Given the description of an element on the screen output the (x, y) to click on. 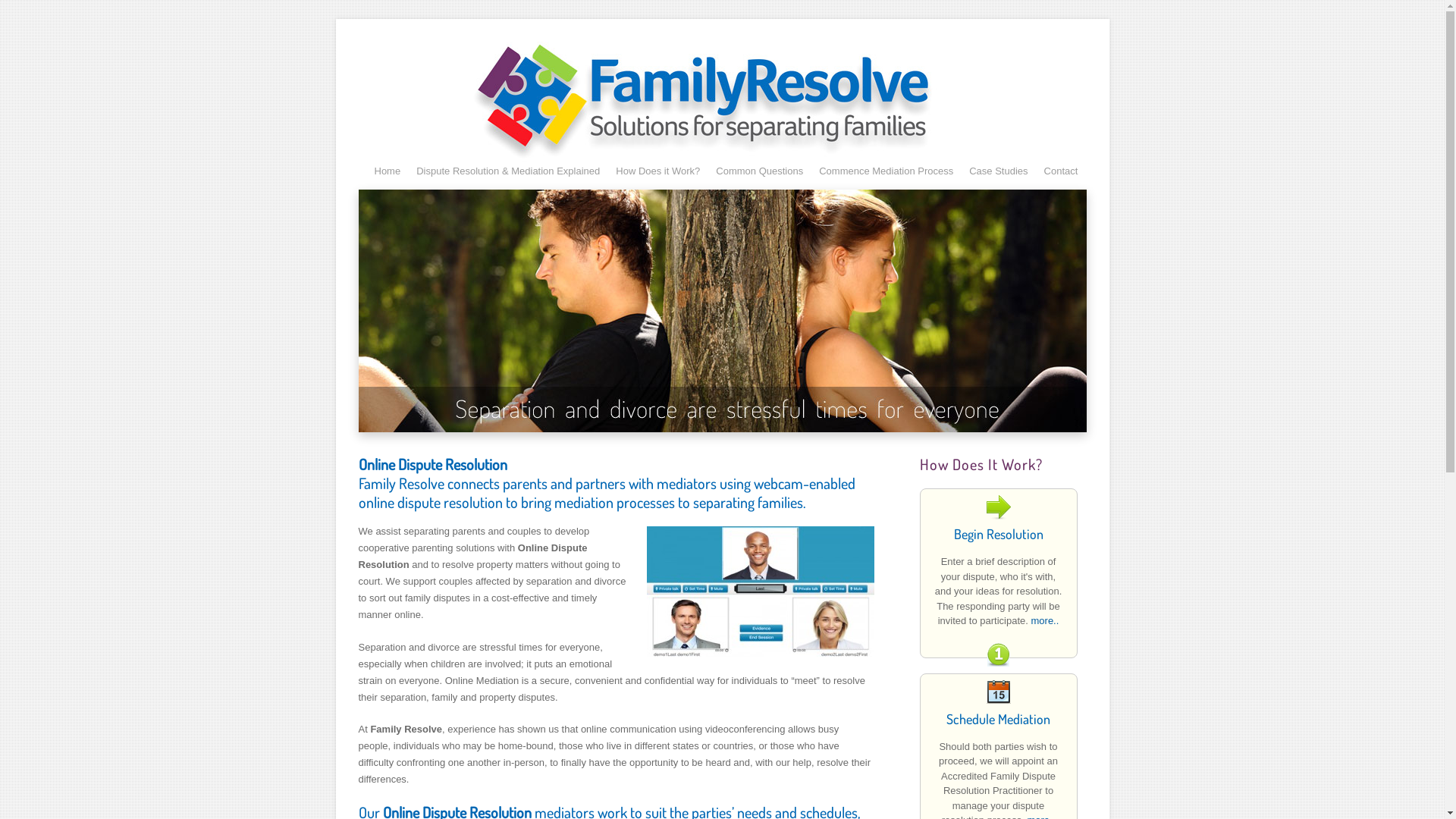
How Does it Work? Element type: text (657, 169)
Commence Mediation Process Element type: text (886, 169)
Common Questions Element type: text (759, 169)
Contact Element type: text (1061, 169)
online dispute resolution Element type: hover (759, 591)
Dispute Resolution & Mediation Explained Element type: text (507, 169)
Home Element type: text (387, 169)
Case Studies Element type: text (998, 169)
more.. Element type: text (1045, 620)
